Given the description of an element on the screen output the (x, y) to click on. 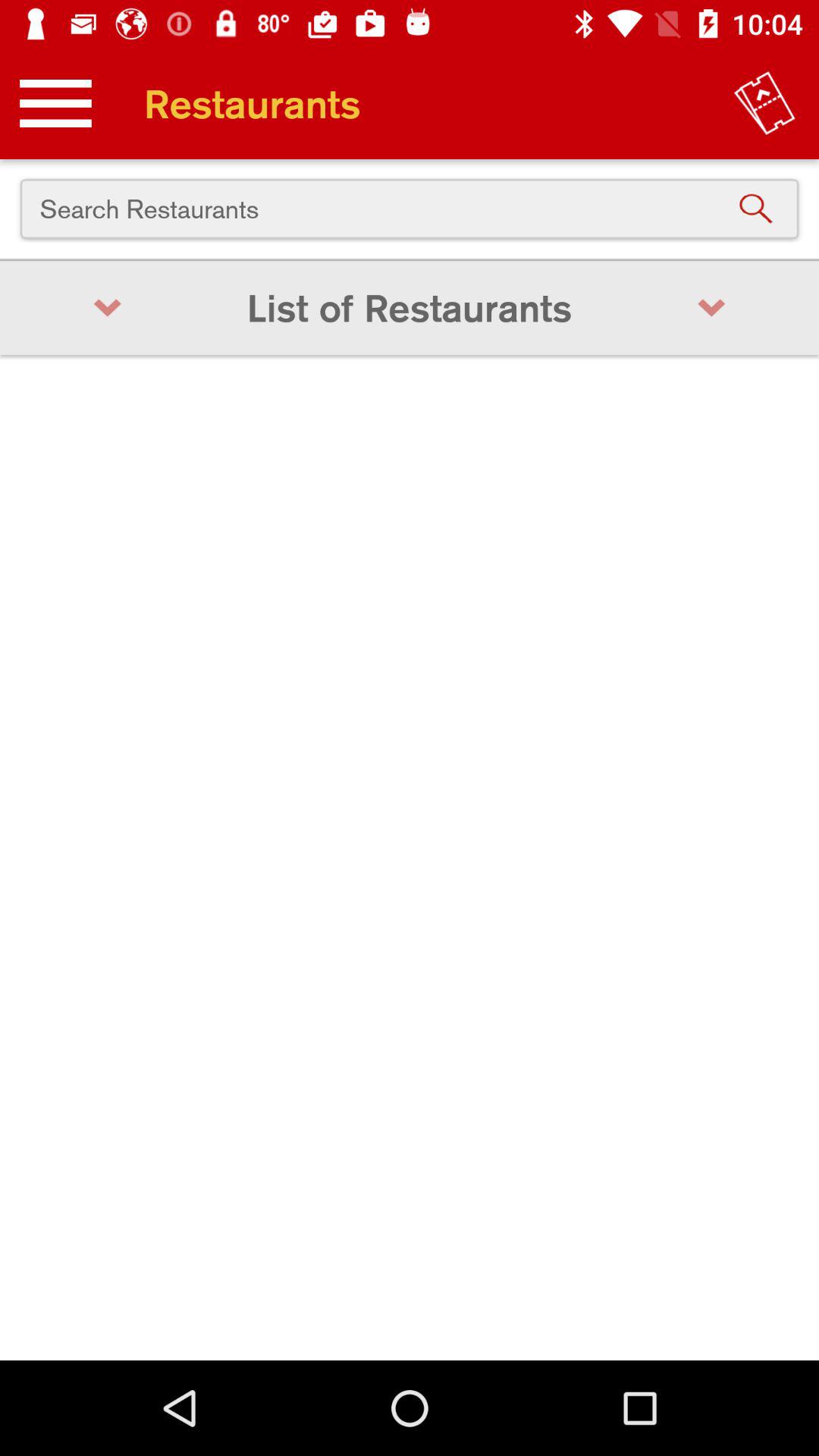
tap the item at the top right corner (764, 103)
